Given the description of an element on the screen output the (x, y) to click on. 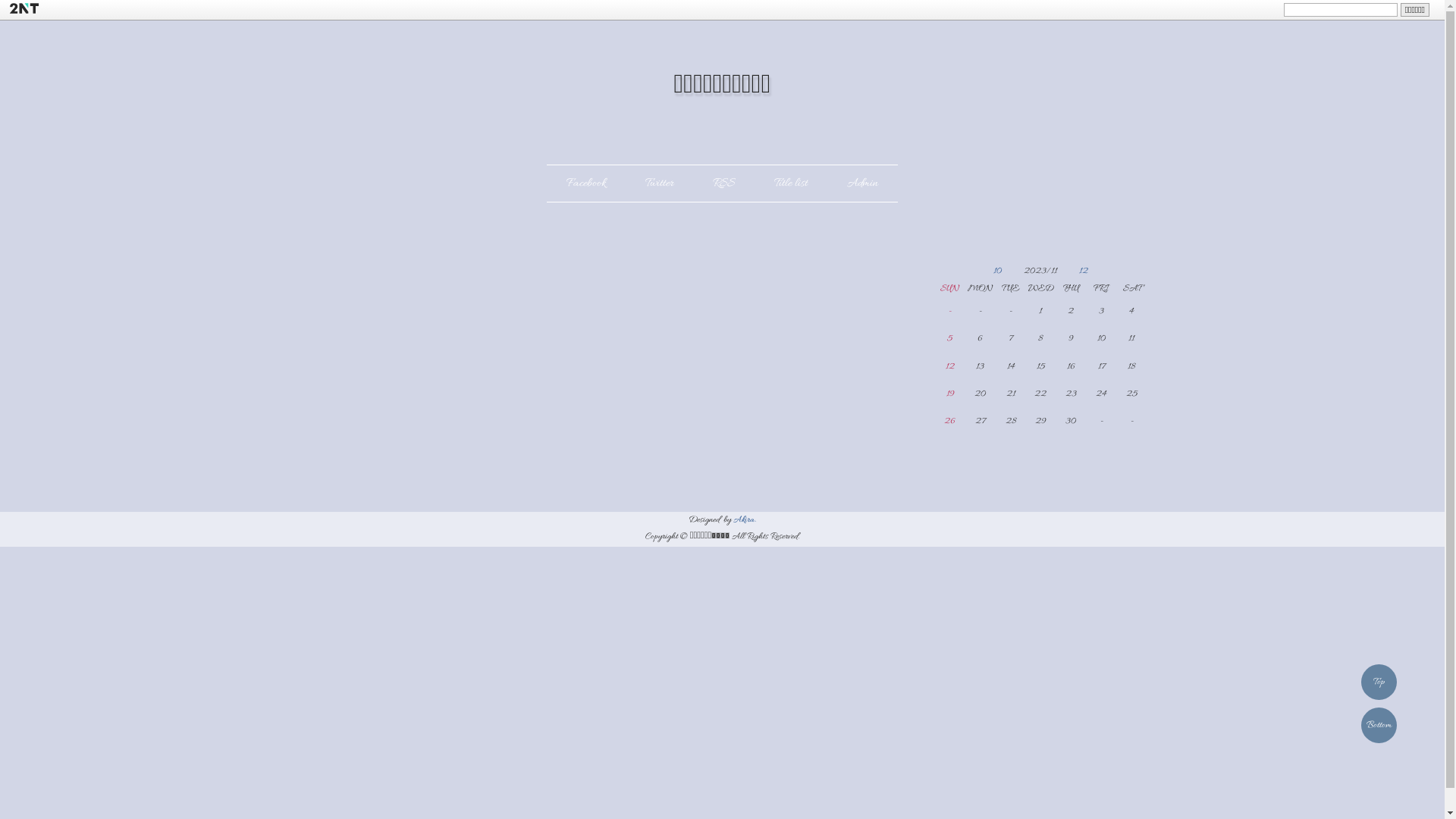
RSS Element type: text (723, 182)
Bottom Element type: text (1378, 725)
12 Element type: text (1073, 271)
Top Element type: text (1378, 681)
Twitter Element type: text (659, 182)
Facebook Element type: text (585, 182)
Admin Element type: text (862, 182)
Akira. Element type: text (744, 520)
Title list Element type: text (790, 182)
10 Element type: text (1007, 271)
